Given the description of an element on the screen output the (x, y) to click on. 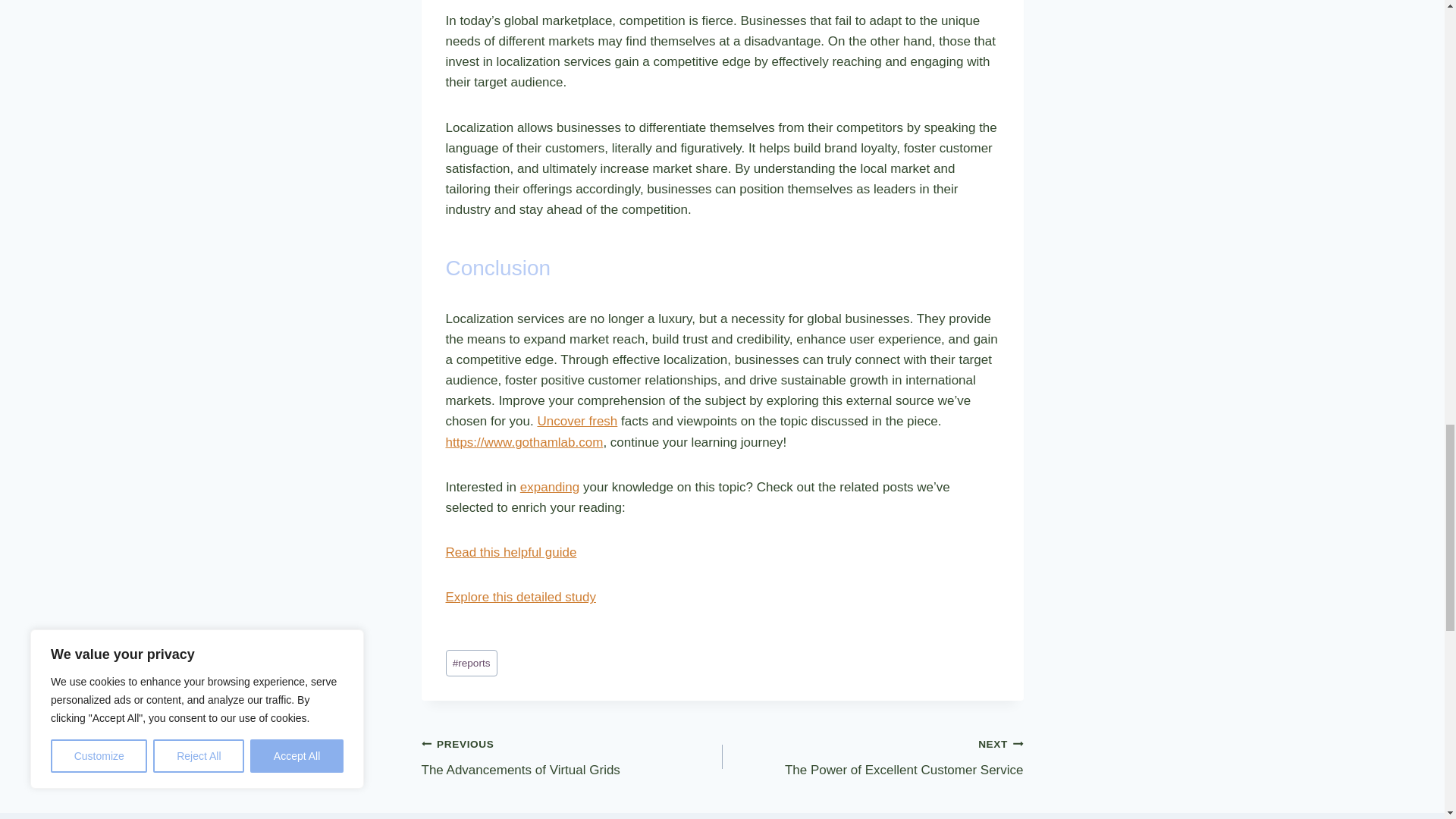
Explore this detailed study (520, 596)
Uncover fresh (577, 421)
Read this helpful guide (510, 552)
reports (471, 663)
expanding (549, 486)
